Given the description of an element on the screen output the (x, y) to click on. 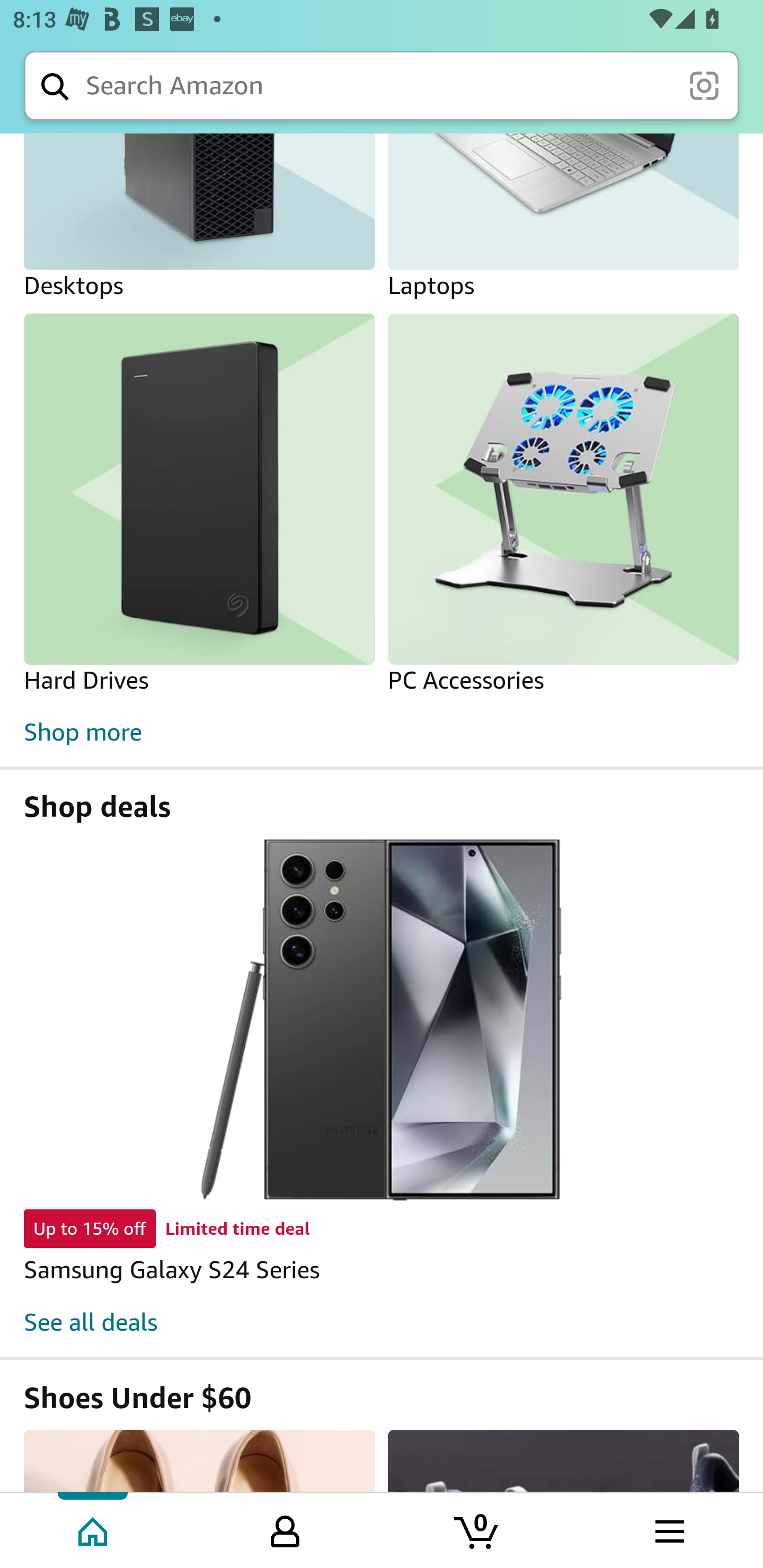
Search Search Search Amazon scan it (381, 85)
scan it (704, 85)
Desktops Desktops Desktops (199, 217)
Laptops Laptops Laptops (563, 217)
Hard Drives Hard Drives Hard Drives (199, 505)
PC Accessories PC Accessories PC Accessories (563, 505)
Shop more (381, 731)
See all deals (90, 1322)
Home Tab 1 of 4 (94, 1529)
Your Amazon.com Tab 2 of 4 (285, 1529)
Cart 0 item Tab 3 of 4 0 (477, 1529)
Browse menu Tab 4 of 4 (668, 1529)
